Given the description of an element on the screen output the (x, y) to click on. 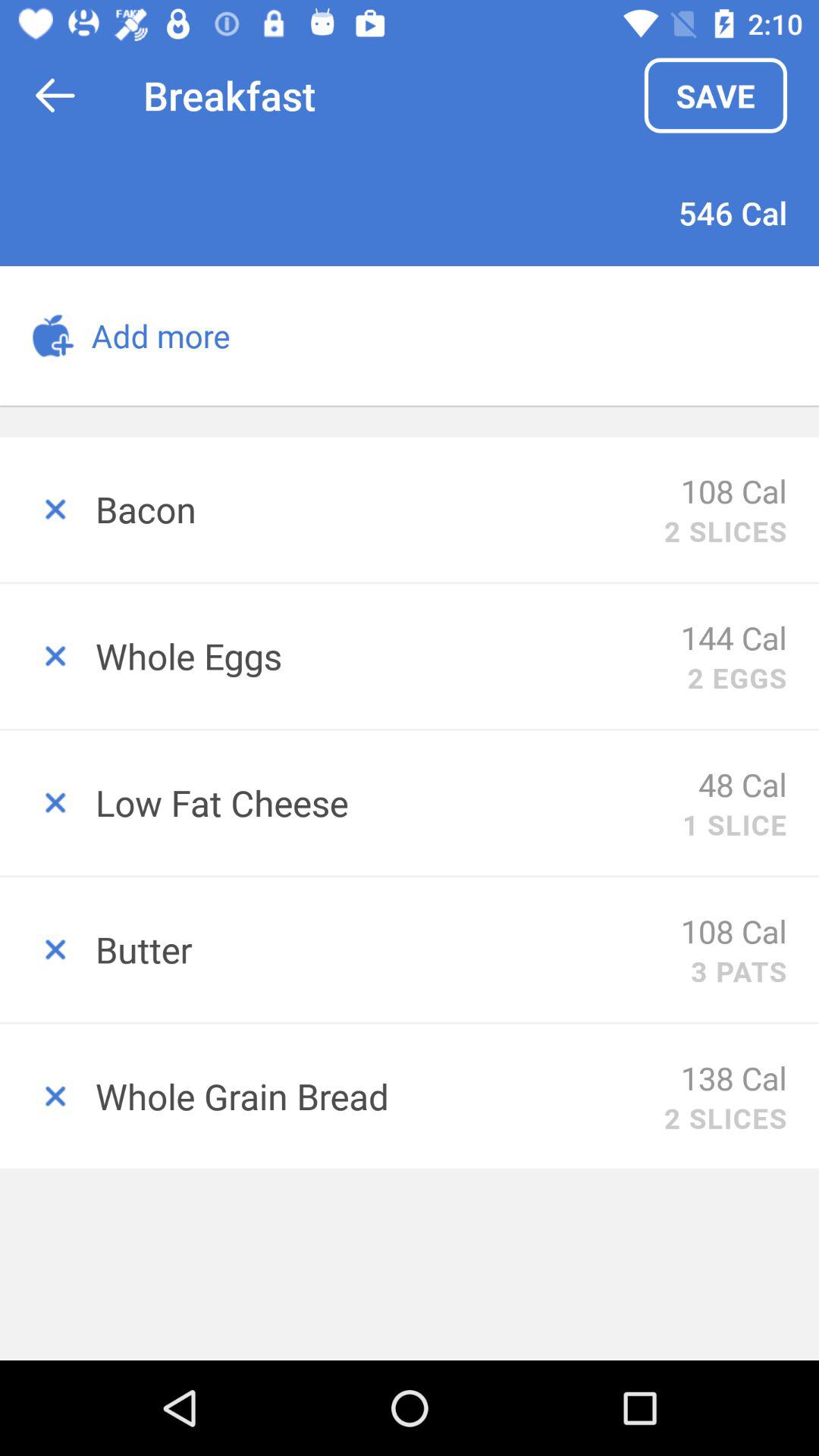
delete item (47, 656)
